Given the description of an element on the screen output the (x, y) to click on. 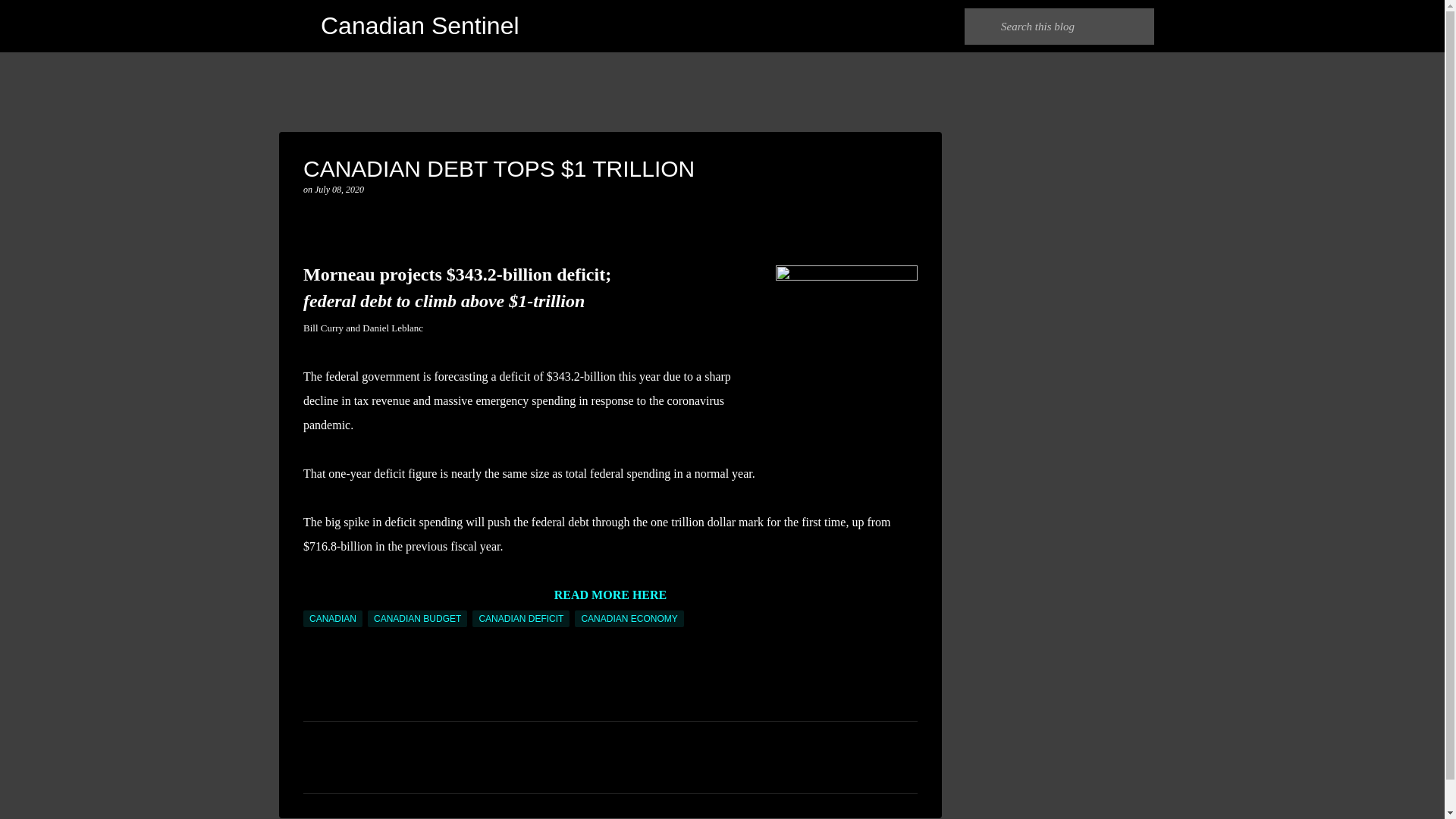
July 08, 2020 (339, 189)
CANADIAN (332, 618)
permanent link (339, 189)
READ MORE HERE (610, 594)
Canadian Sentinel (419, 25)
CANADIAN BUDGET (417, 618)
CANADIAN ECONOMY (628, 618)
CANADIAN DEFICIT (520, 618)
